Given the description of an element on the screen output the (x, y) to click on. 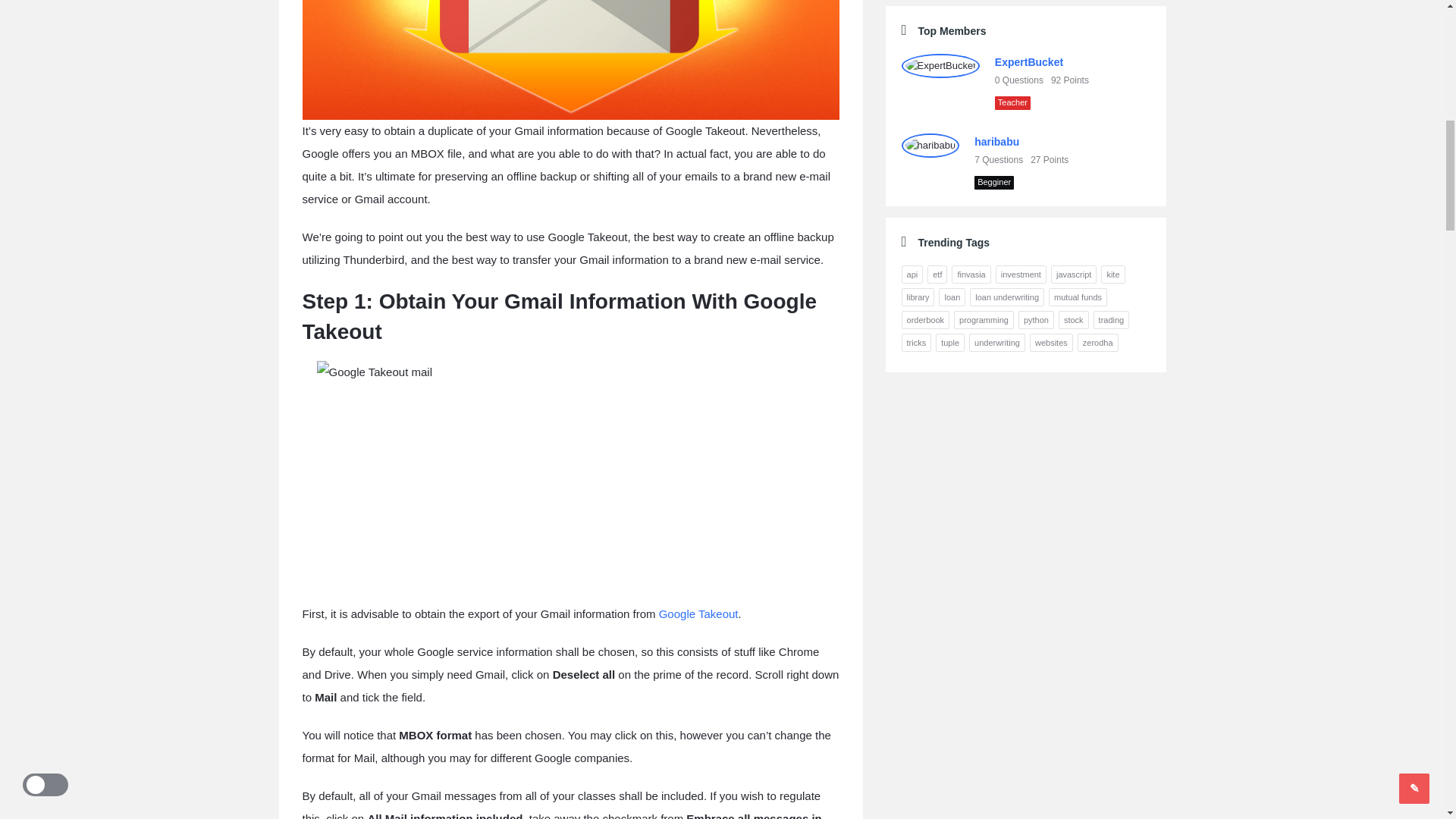
Google Takeout (698, 613)
